Given the description of an element on the screen output the (x, y) to click on. 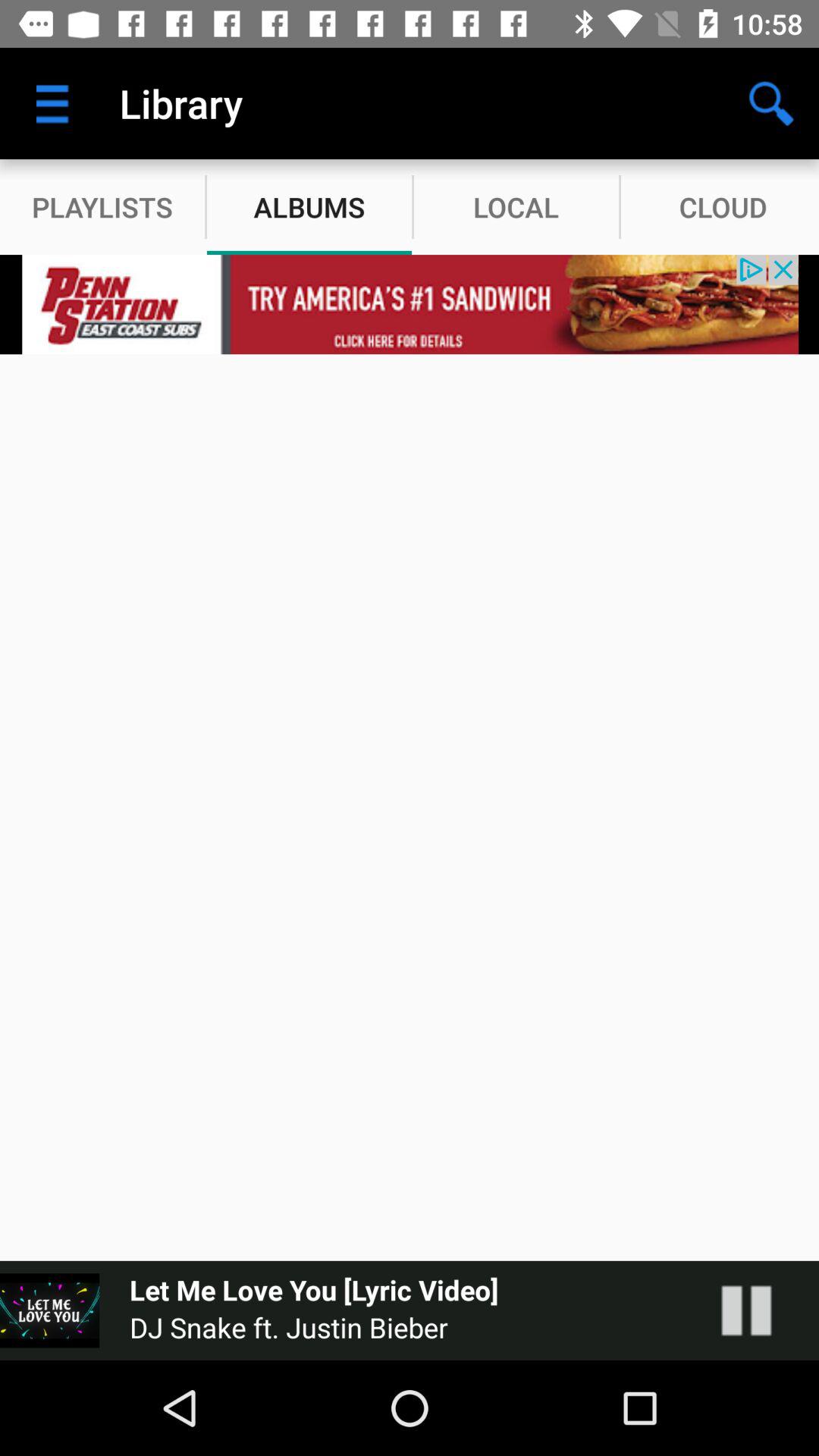
pause button (761, 1310)
